Given the description of an element on the screen output the (x, y) to click on. 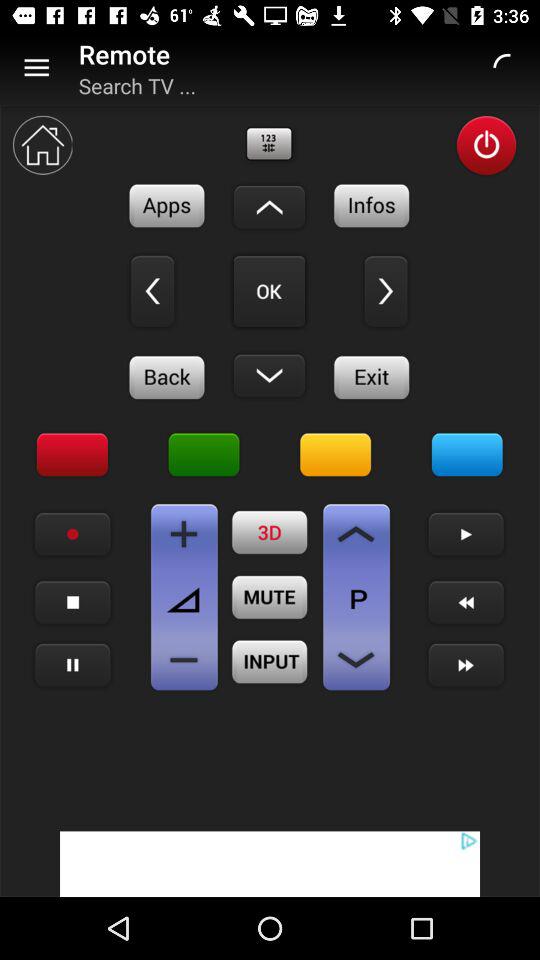
tate button (72, 534)
